Given the description of an element on the screen output the (x, y) to click on. 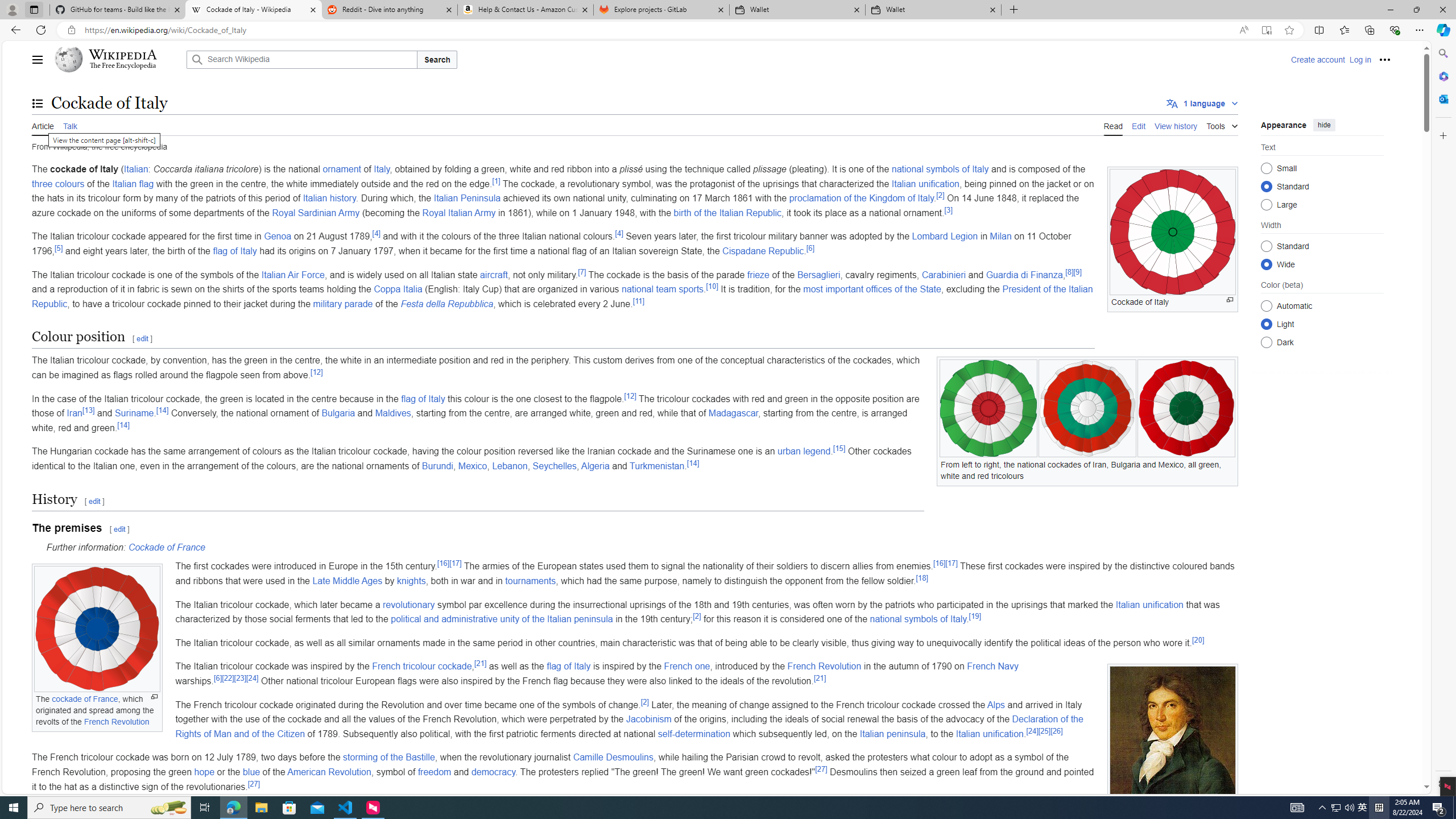
hide (1324, 124)
[20] (1197, 639)
[7] (582, 271)
most important offices of the State (871, 289)
Cockade of France (166, 547)
Algeria (595, 466)
[24] (1032, 730)
Italian peninsula (892, 733)
[2] (644, 700)
Search Wikipedia (301, 59)
Article (42, 124)
[27] (253, 782)
